Given the description of an element on the screen output the (x, y) to click on. 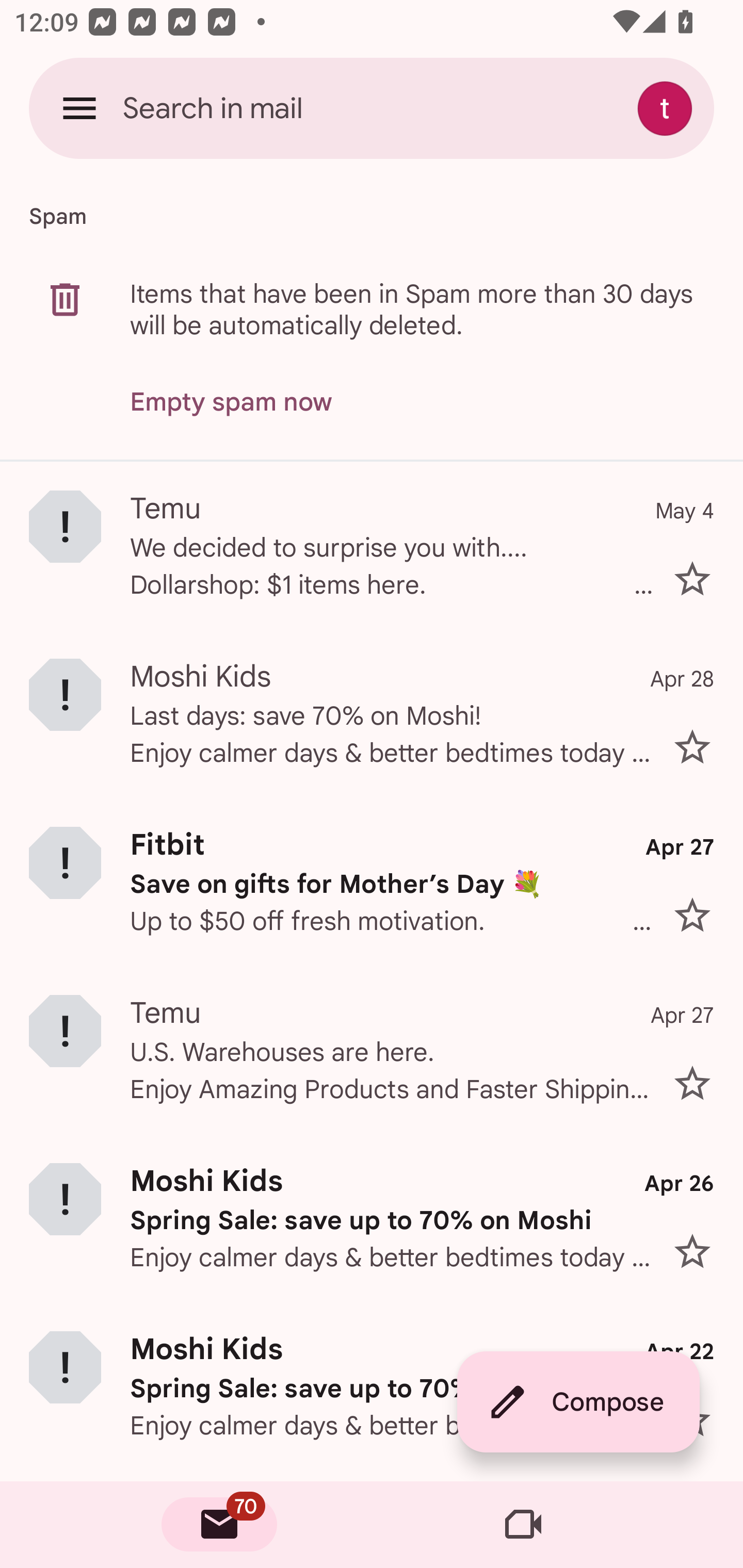
Open navigation drawer (79, 108)
Empty spam now (230, 402)
Compose (577, 1401)
Meet (523, 1524)
